Given the description of an element on the screen output the (x, y) to click on. 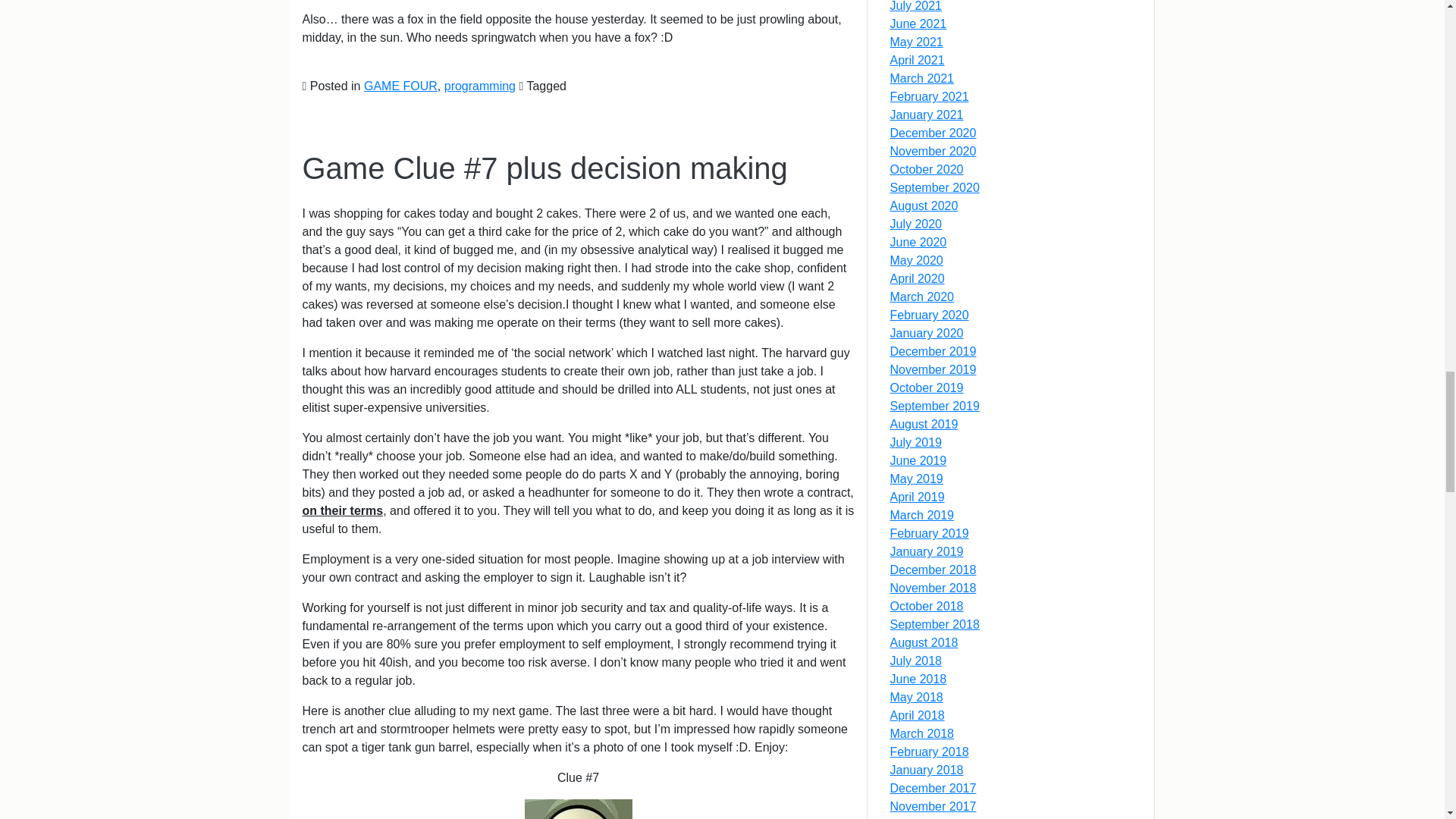
GAME FOUR (401, 85)
programming (479, 85)
